Given the description of an element on the screen output the (x, y) to click on. 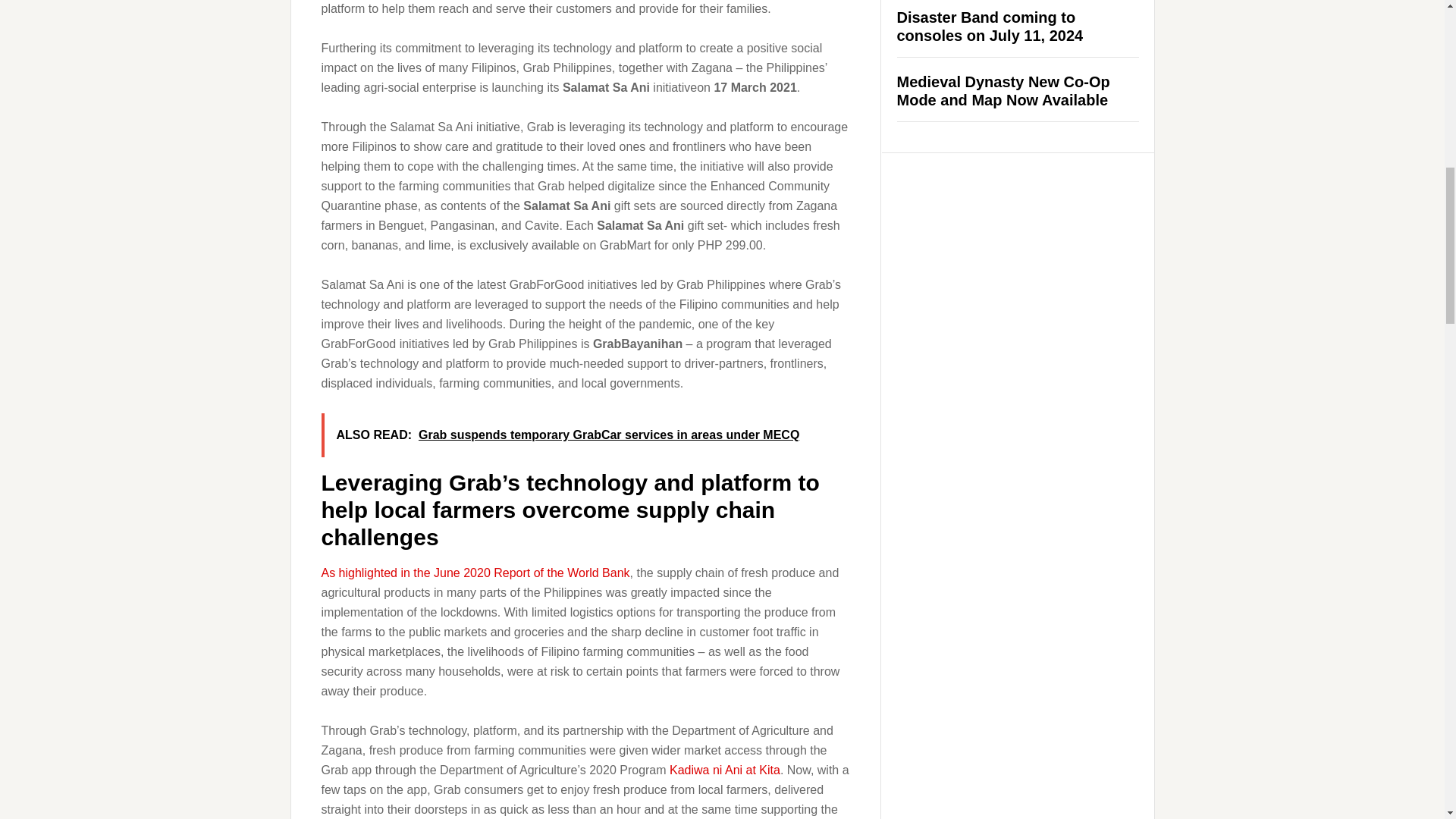
As highlighted in the June 2020 Report of the World Bank (475, 572)
Kadiwa ni Ani at Kita (724, 769)
